Given the description of an element on the screen output the (x, y) to click on. 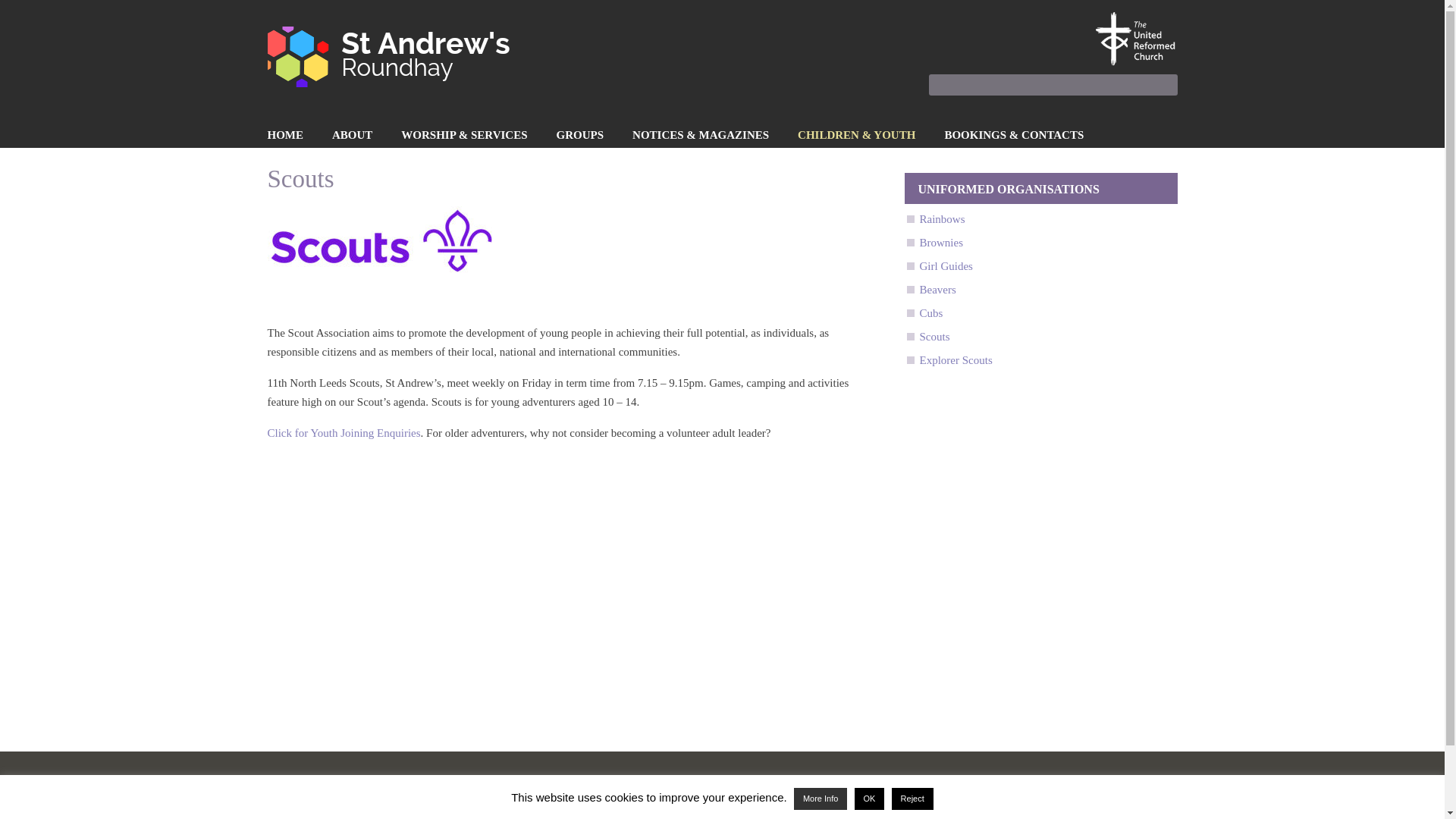
Read more about Rainbows (940, 218)
Read more about Scouts (933, 336)
Read more about Beavers (936, 289)
HOME (284, 135)
Read more about Explorer Scouts (954, 359)
Read more about Girl Guides (945, 265)
Read more about Brownies (940, 242)
ABOUT (351, 135)
Read more about Cubs (930, 313)
GROUPS (580, 135)
